Given the description of an element on the screen output the (x, y) to click on. 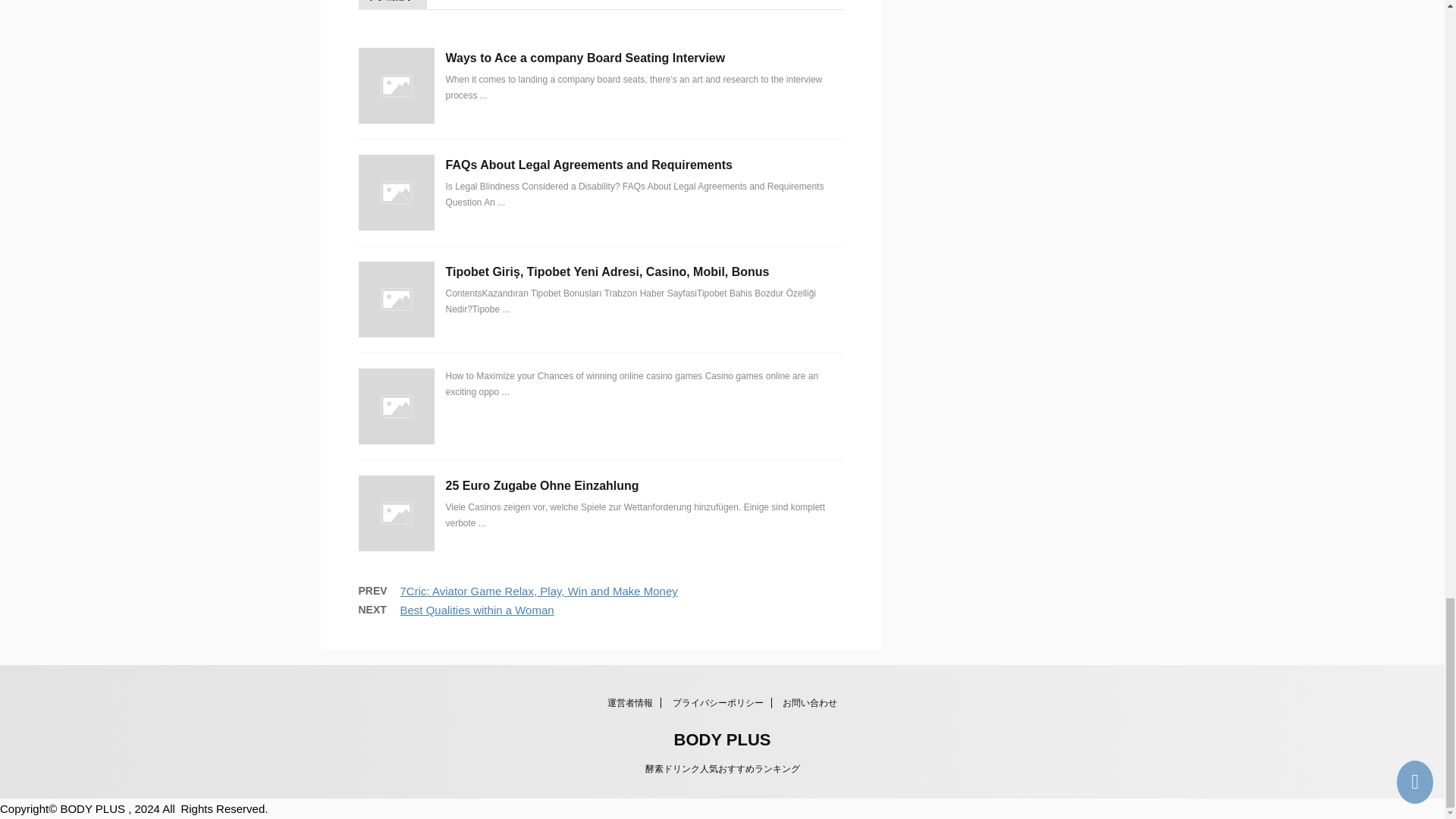
7Cric: Aviator Game Relax, Play, Win and Make Money (539, 590)
Best Qualities within a Woman (477, 609)
no image (395, 192)
25 Euro Zugabe Ohne Einzahlung (542, 485)
no image (395, 406)
no image (395, 299)
no image (395, 513)
Ways to Ace a company Board Seating Interview (585, 57)
FAQs About Legal Agreements and Requirements (588, 164)
no image (395, 85)
